Given the description of an element on the screen output the (x, y) to click on. 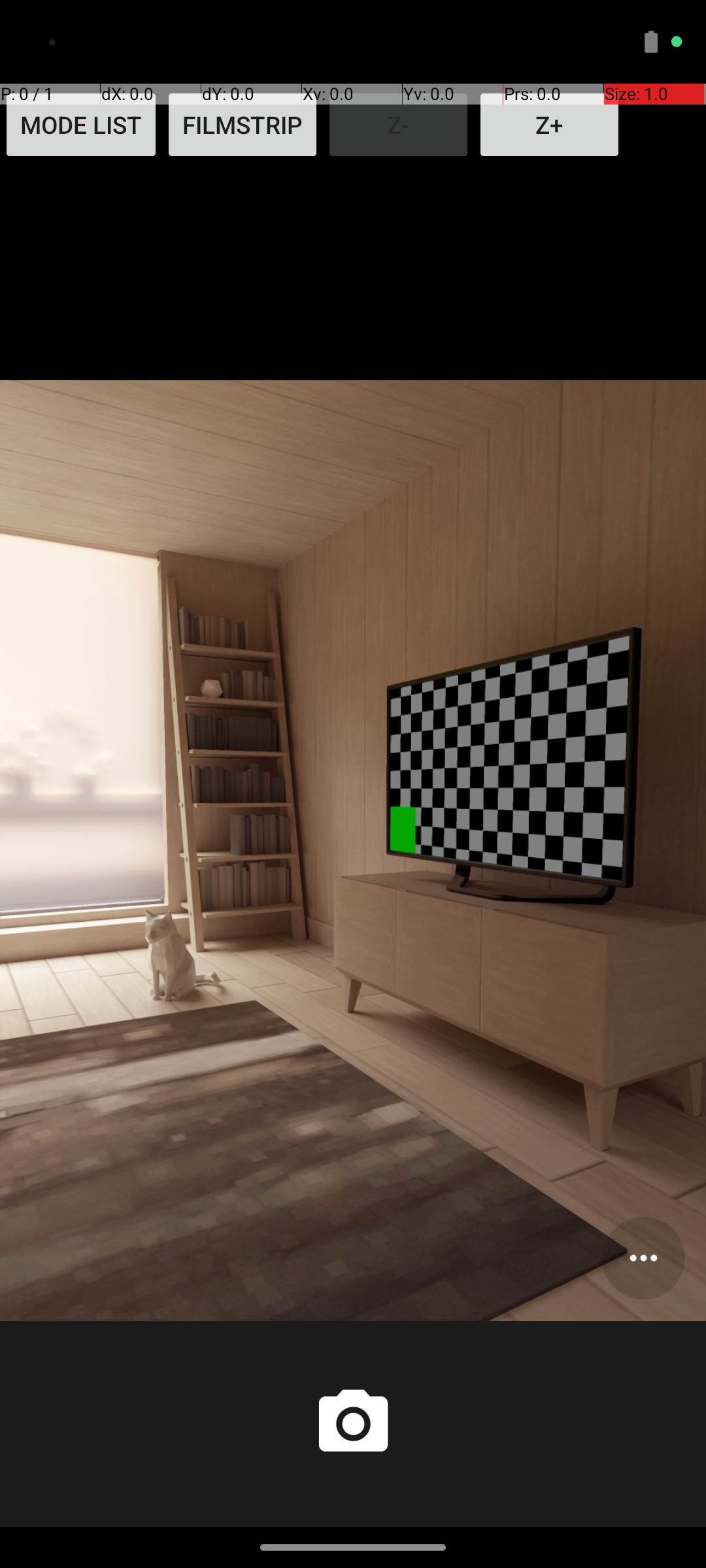
Options Element type: android.widget.LinearLayout (643, 1258)
Shutter Element type: android.widget.ImageView (353, 1423)
MODE LIST Element type: android.widget.Button (81, 124)
FILMSTRIP Element type: android.widget.Button (242, 124)
Z- Element type: android.widget.Button (397, 124)
Z+ Element type: android.widget.Button (548, 124)
